Given the description of an element on the screen output the (x, y) to click on. 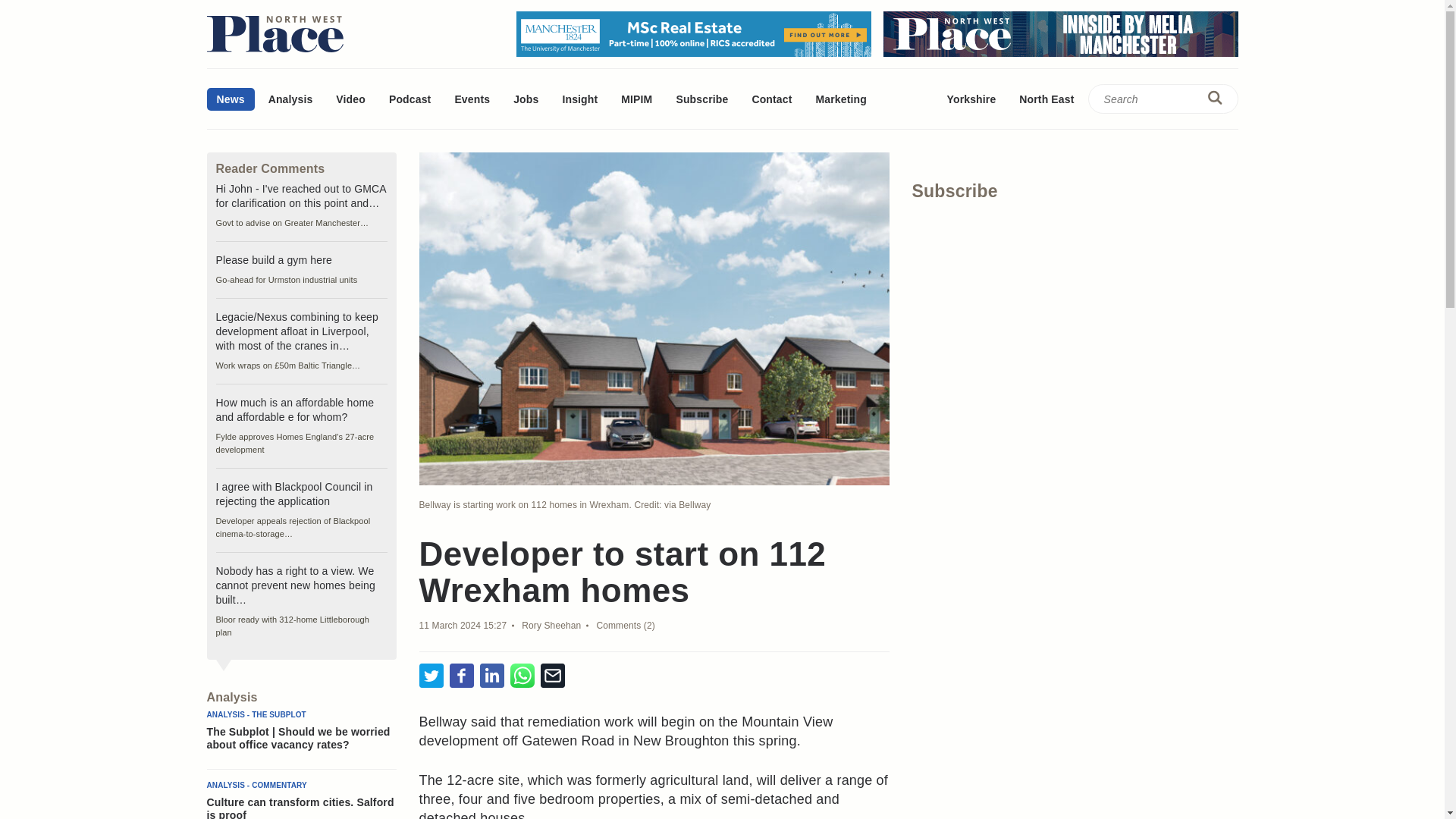
Jobs (525, 98)
Podcast (409, 98)
MIPIM (636, 98)
Share on Facebook (460, 676)
Share on Twiiter (430, 676)
Contact (771, 98)
Share on LinkedIn (491, 676)
Events (471, 98)
Marketing (840, 98)
Share by Email (552, 676)
News (229, 98)
Share on WhatsApp (521, 676)
Analysis (291, 98)
